Given the description of an element on the screen output the (x, y) to click on. 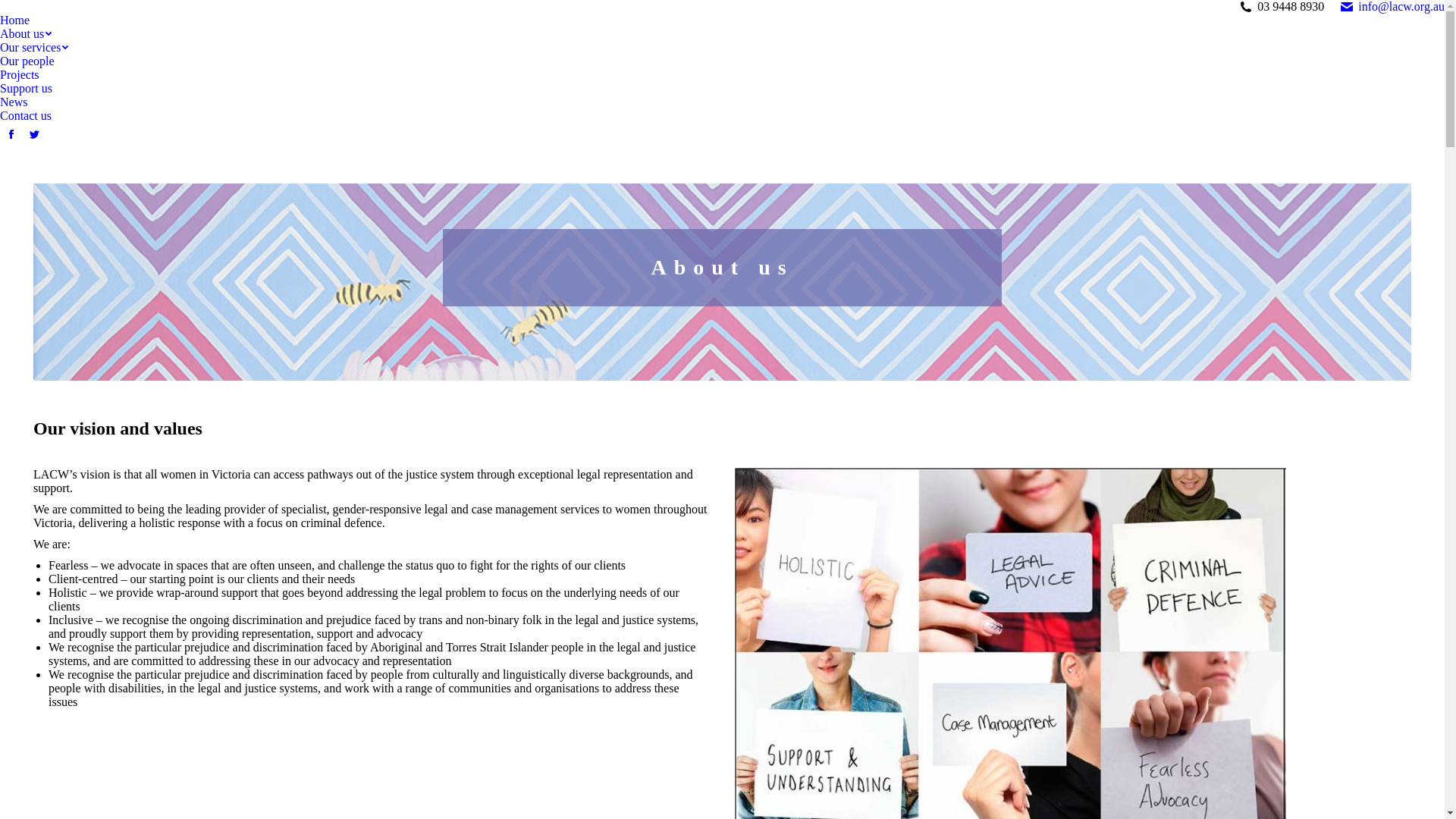
Contact us Element type: text (25, 115)
Projects Element type: text (19, 74)
Support us Element type: text (26, 88)
info@lacw.org.au Element type: text (1391, 6)
Facebook page opens in new window Element type: text (11, 134)
Twitter page opens in new window Element type: text (33, 134)
About us Element type: text (25, 33)
News Element type: text (13, 102)
Home Element type: text (14, 20)
Our people Element type: text (27, 61)
Our services Element type: text (34, 47)
